Given the description of an element on the screen output the (x, y) to click on. 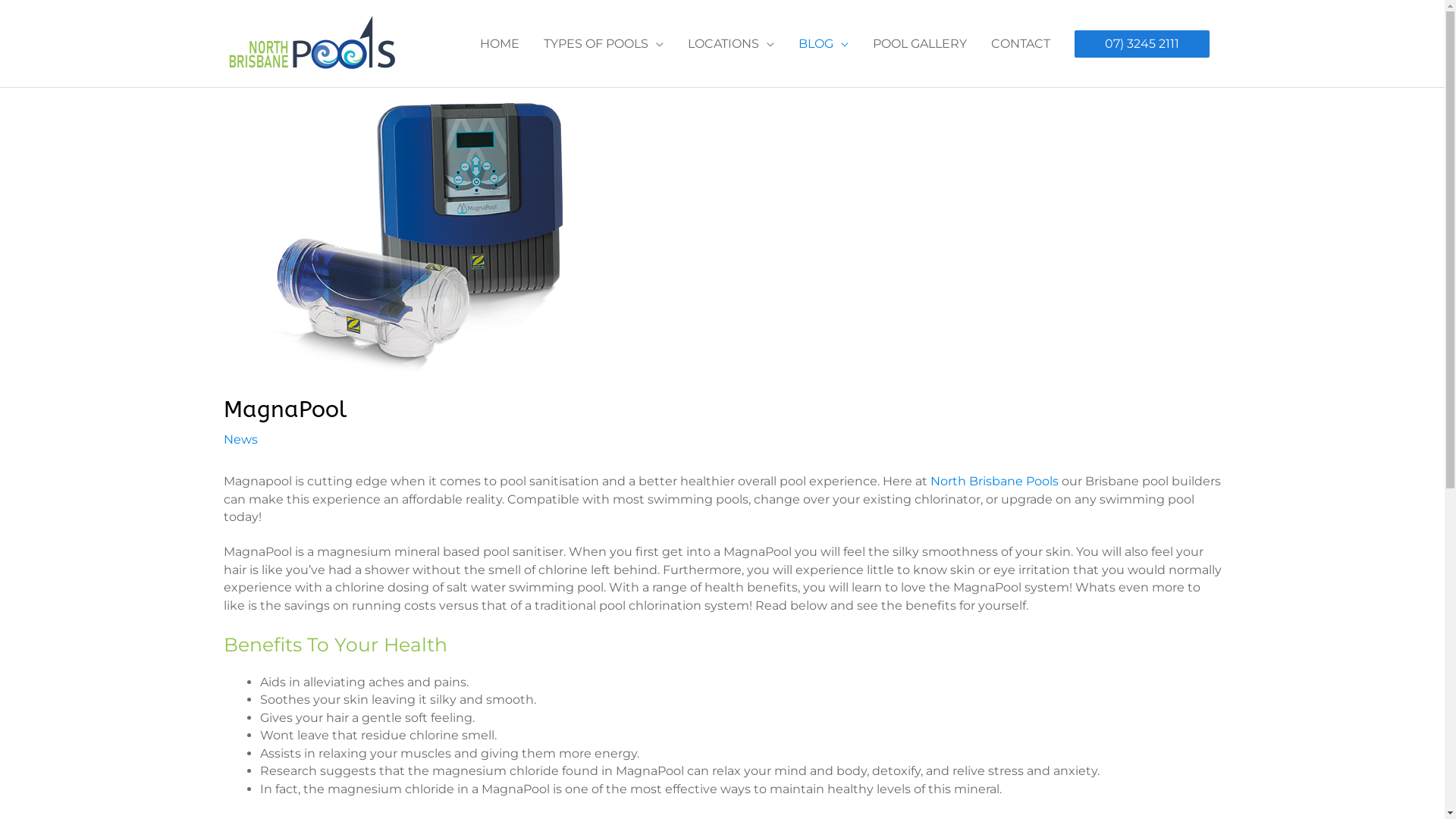
POOL GALLERY Element type: text (918, 43)
TYPES OF POOLS Element type: text (602, 43)
CONTACT Element type: text (1019, 43)
North Brisbane Pools Element type: text (993, 480)
07) 3245 2111 Element type: text (1140, 43)
HOME Element type: text (498, 43)
News Element type: text (239, 439)
LOCATIONS Element type: text (729, 43)
BLOG Element type: text (822, 43)
